Given the description of an element on the screen output the (x, y) to click on. 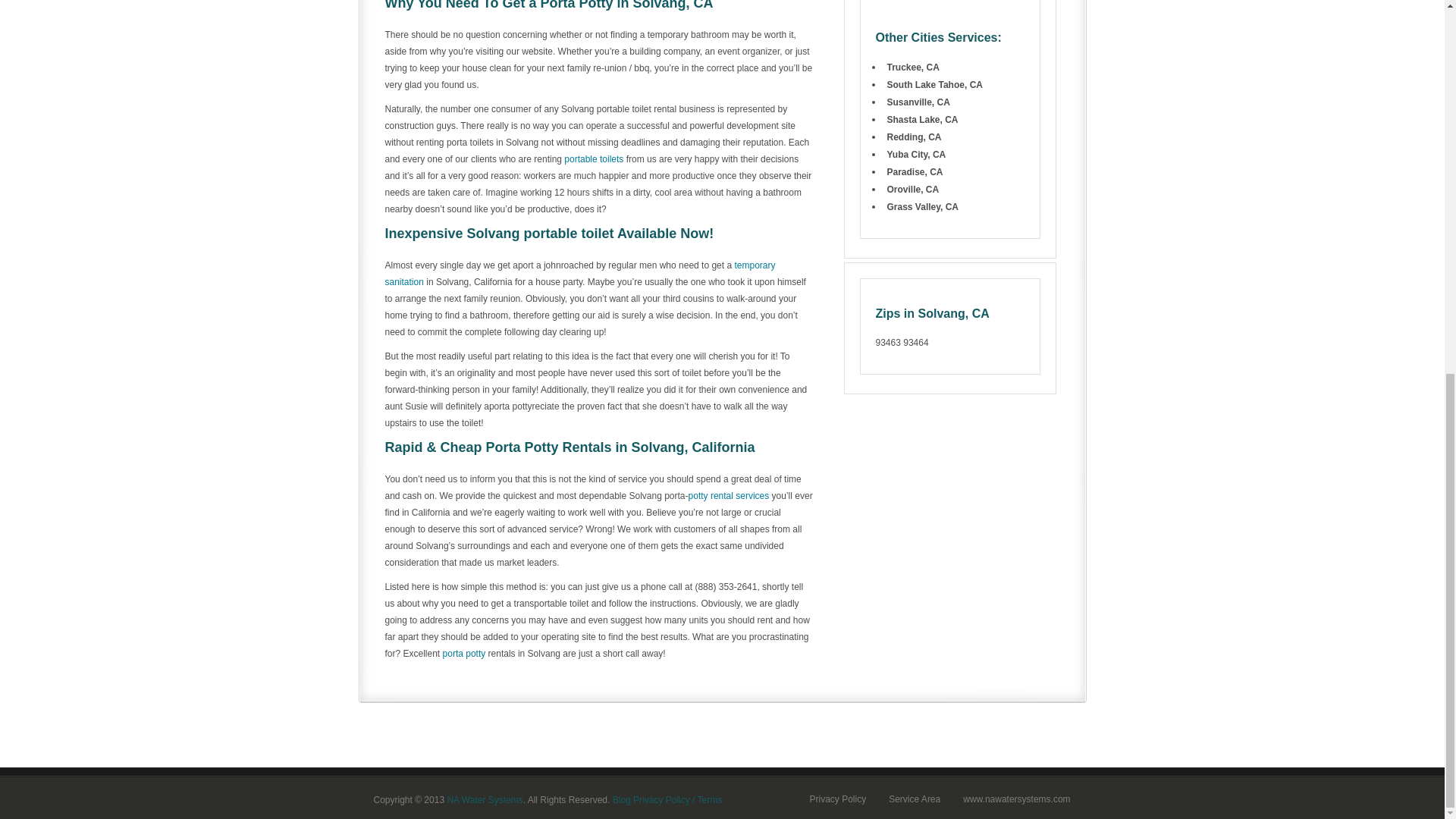
Yuba City, CA (916, 154)
Service Area (914, 799)
Truckee, CA (912, 67)
Portable Toilets in Oroville, CA (912, 189)
Oroville, CA (912, 189)
Portable Toilets in Shasta Lake, CA (922, 119)
Portable Toilets in Truckee, CA (912, 67)
Susanville, CA (918, 102)
Grass Valley, CA (922, 206)
temporary sanitation (580, 273)
Portable Toilets in Yuba City, CA (916, 154)
Paradise, CA (914, 172)
Blog (621, 799)
www.nawatersystems.com (1016, 799)
Portable Toilets in South Lake Tahoe, CA (934, 84)
